Given the description of an element on the screen output the (x, y) to click on. 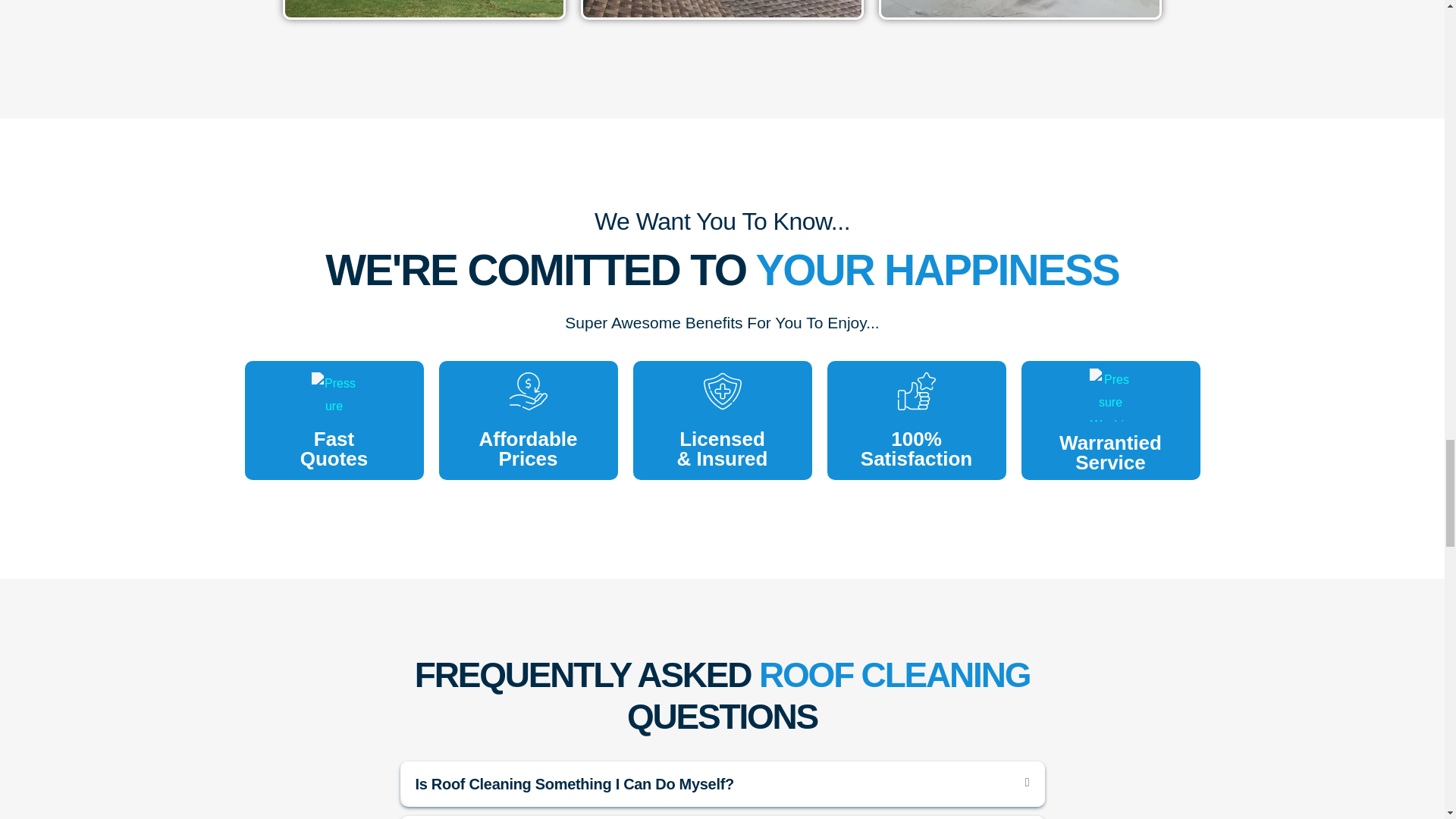
Roof Cleaning (722, 8)
Roof Cleaning (333, 394)
Roof Cleaning (424, 8)
Roof Cleaning (1019, 8)
